Given the description of an element on the screen output the (x, y) to click on. 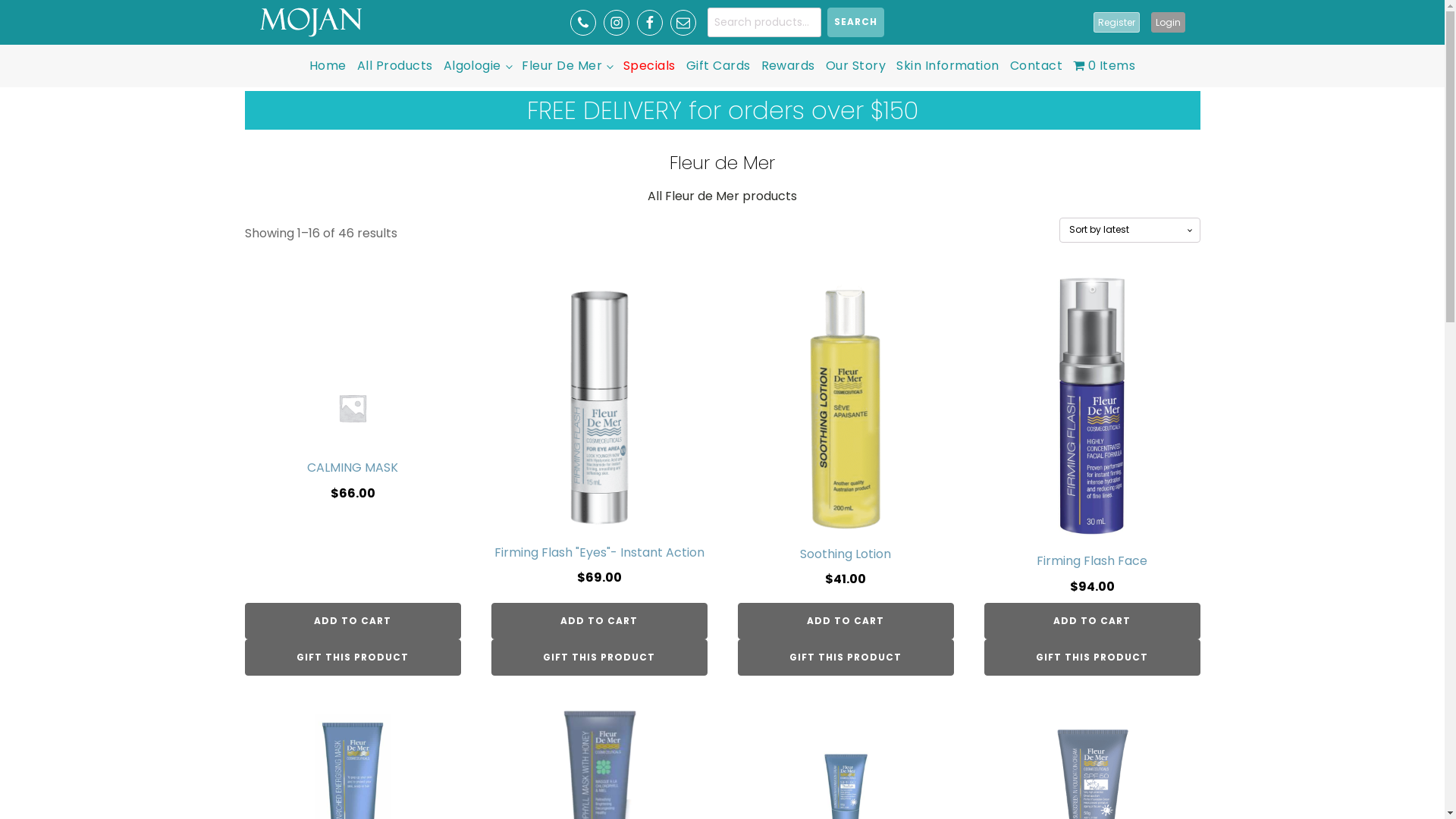
GIFT THIS PRODUCT Element type: text (599, 657)
Skin Information Element type: text (947, 65)
Firming Flash Face
$94.00 Element type: text (1092, 439)
Login Element type: text (1168, 22)
All Products Element type: text (394, 65)
Home Element type: text (327, 65)
Contact Element type: text (1035, 65)
ADD TO CART Element type: text (599, 620)
Our Story Element type: text (855, 65)
GIFT THIS PRODUCT Element type: text (352, 657)
ADD TO CART Element type: text (352, 620)
GIFT THIS PRODUCT Element type: text (1092, 657)
Firming Flash "Eyes"- Instant Action
$69.00 Element type: text (599, 439)
Specials Element type: text (649, 65)
CALMING MASK
$66.00 Element type: text (352, 439)
Fleur De Mer Element type: text (566, 65)
GIFT THIS PRODUCT Element type: text (845, 657)
ADD TO CART Element type: text (845, 620)
SEARCH Element type: text (855, 22)
0 Items Element type: text (1103, 65)
Soothing Lotion
$41.00 Element type: text (845, 439)
Gift Cards Element type: text (718, 65)
ADD TO CART Element type: text (1092, 620)
Algologie Element type: text (477, 65)
Register Element type: text (1116, 22)
Rewards Element type: text (787, 65)
